Given the description of an element on the screen output the (x, y) to click on. 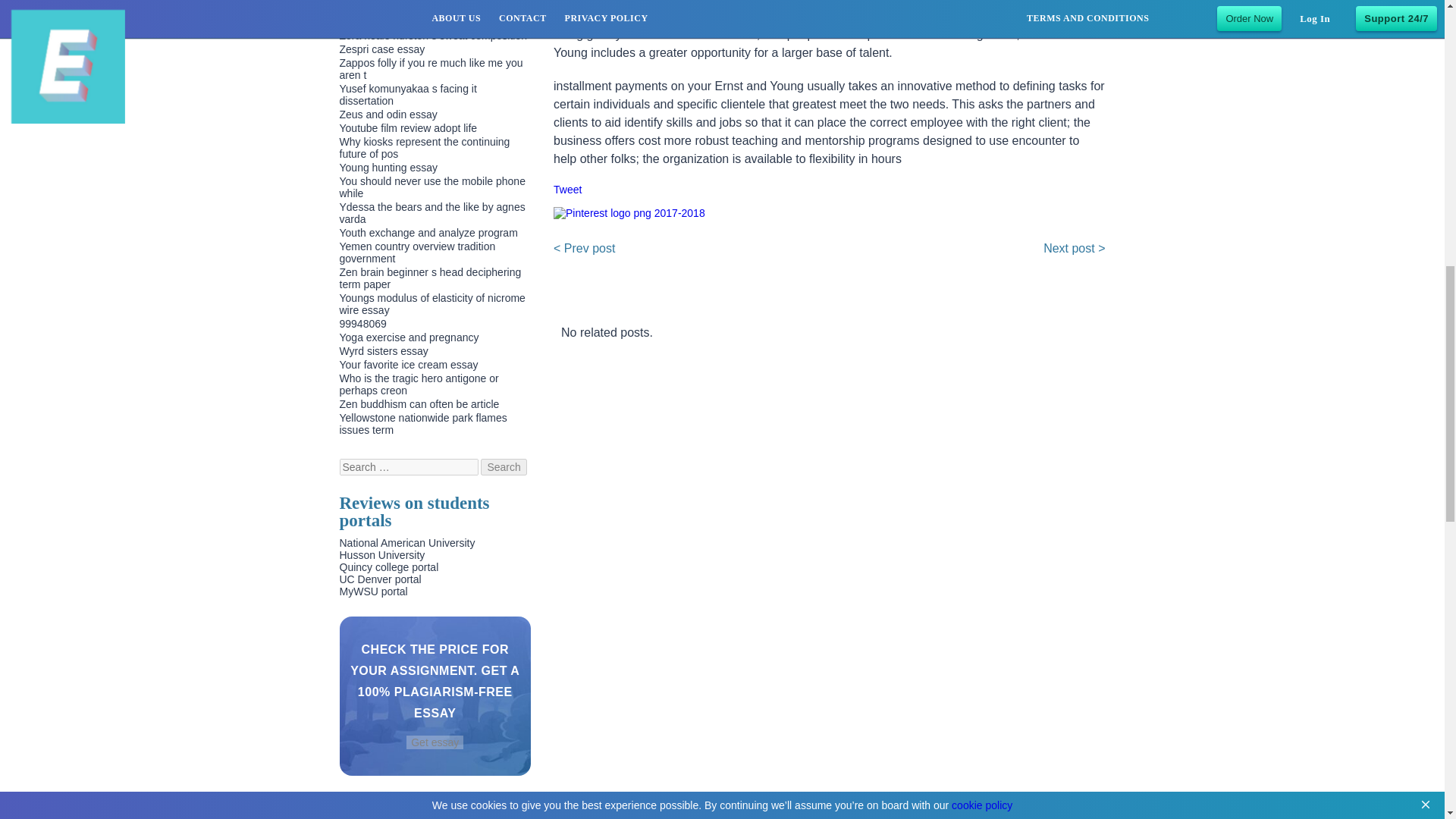
Search (502, 466)
Search (502, 466)
